Given the description of an element on the screen output the (x, y) to click on. 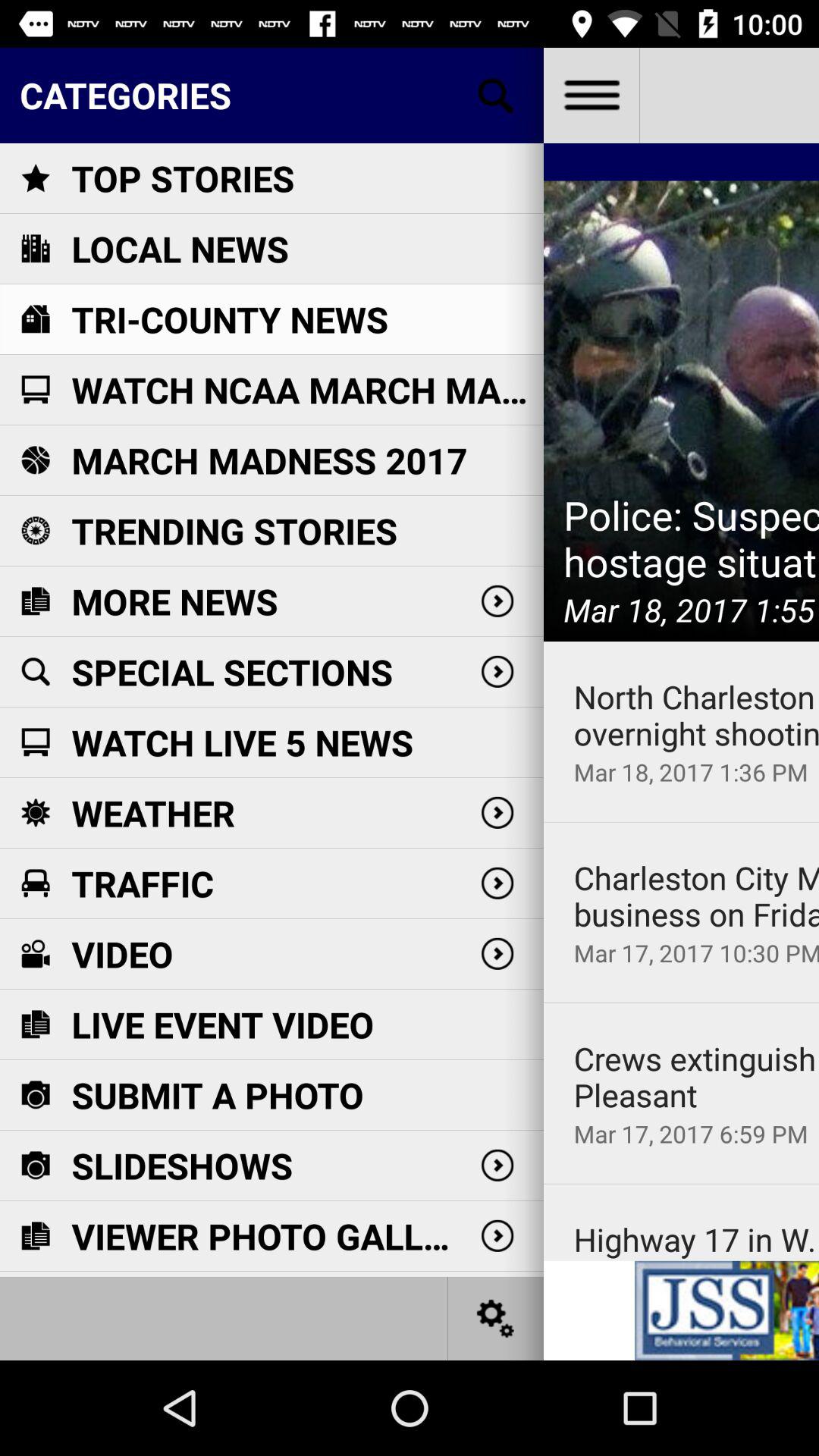
flip to the live event video item (222, 1024)
